Given the description of an element on the screen output the (x, y) to click on. 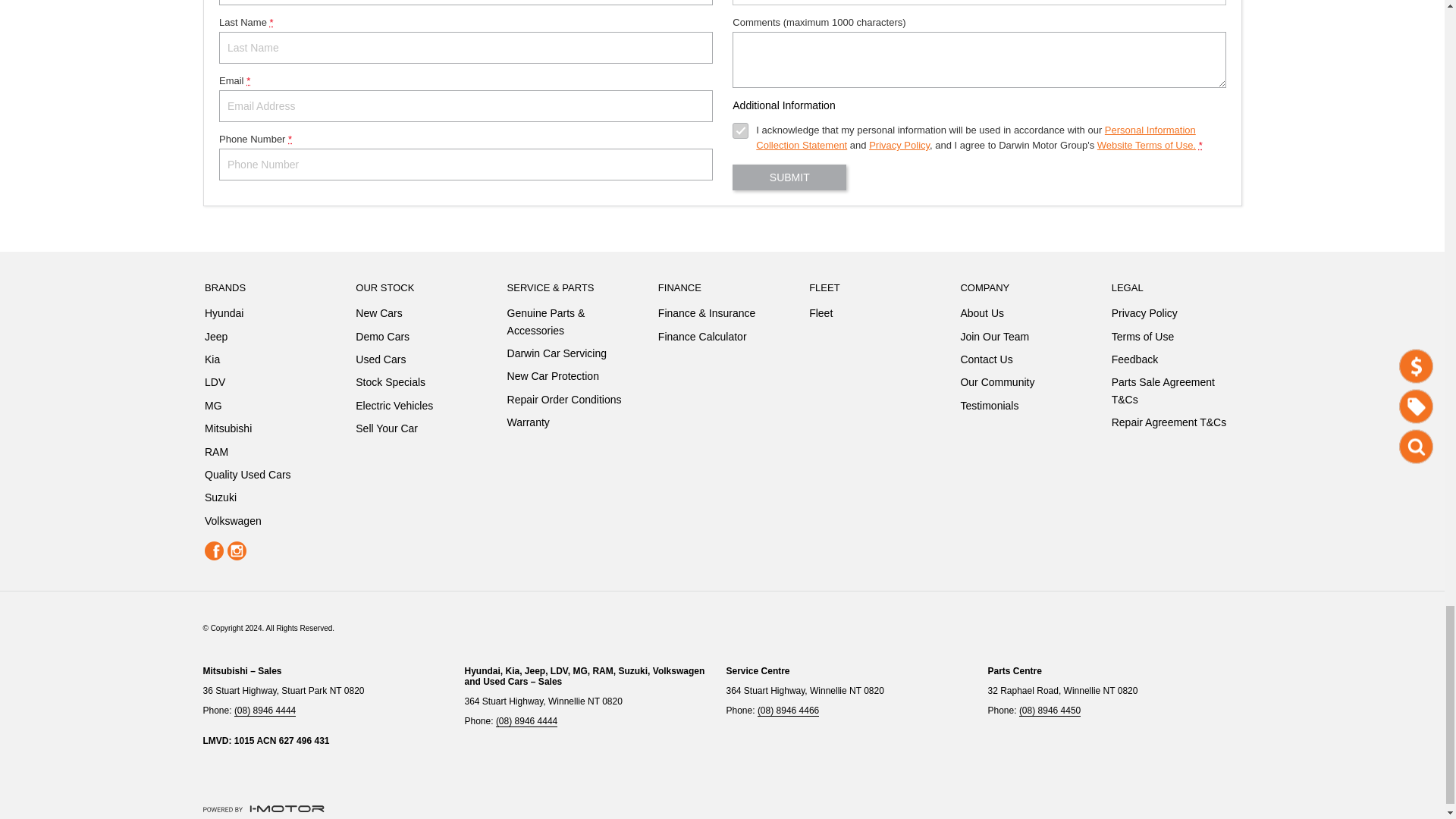
on (740, 130)
